Given the description of an element on the screen output the (x, y) to click on. 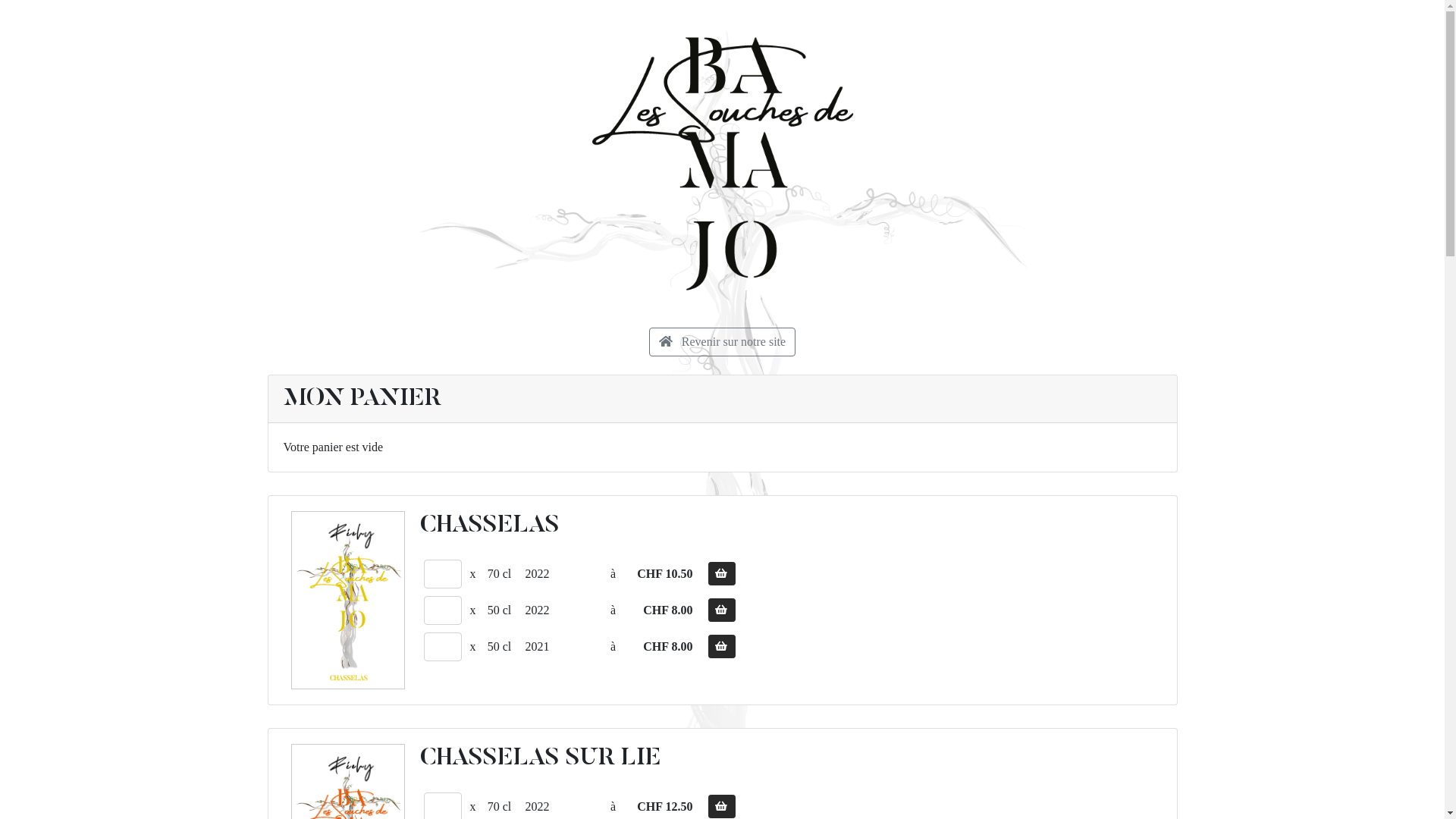
Ajouter au panier Element type: hover (721, 646)
Logo des Souches de Bamajo Element type: hover (721, 163)
Ajouter au panier Element type: hover (721, 609)
Ajouter au panier Element type: hover (721, 806)
Chasselas Element type: hover (347, 600)
Ajouter au panier Element type: hover (721, 573)
   Revenir sur notre site Element type: text (722, 341)
